Given the description of an element on the screen output the (x, y) to click on. 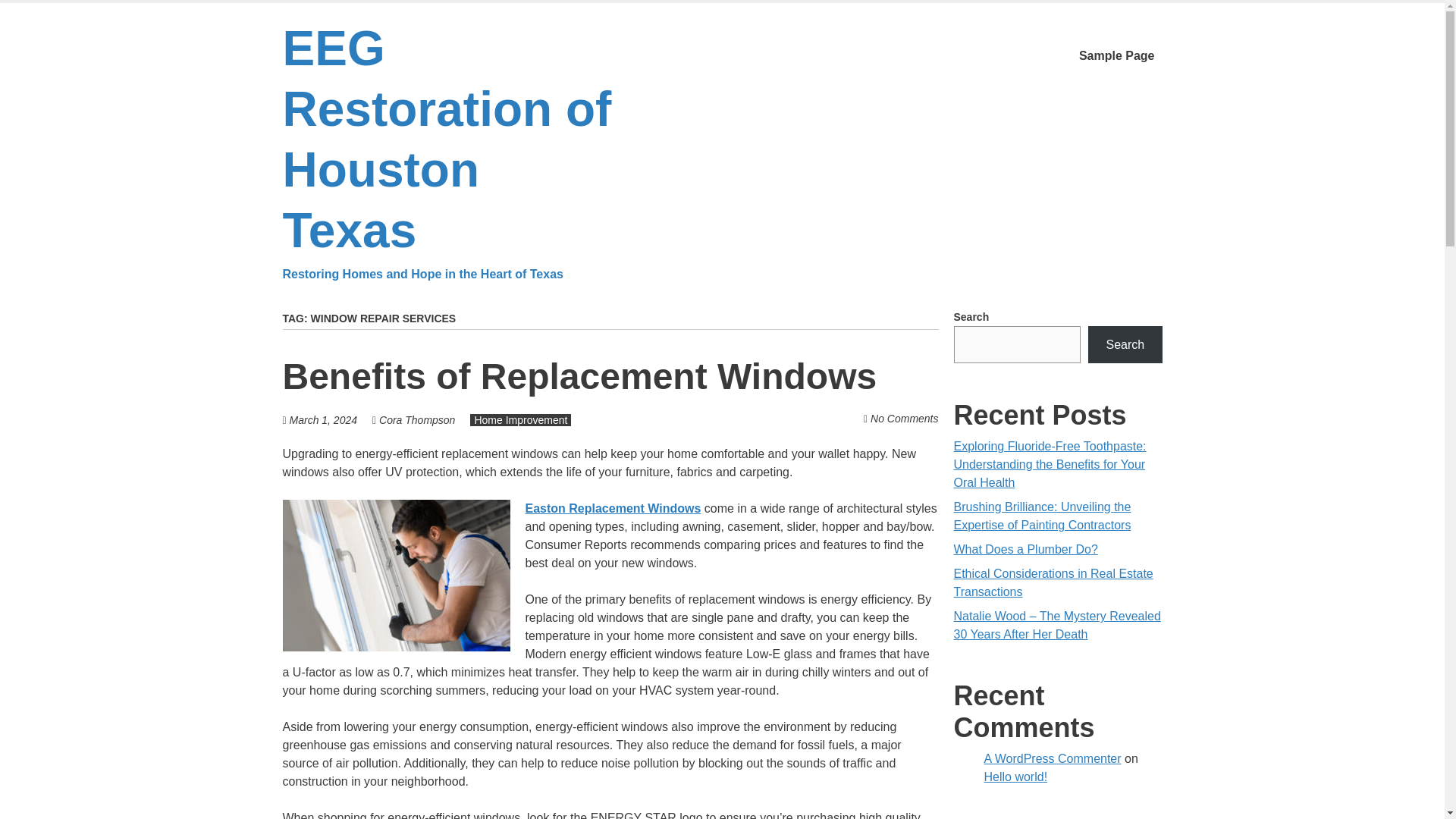
Sample Page (1116, 55)
Ethical Considerations in Real Estate Transactions (1053, 582)
What Does a Plumber Do? (1025, 549)
Easton Replacement Windows (612, 508)
View all posts by Cora Thompson (416, 419)
Benefits of Replacement Windows (579, 376)
March 1, 2024 (323, 419)
A WordPress Commenter (1052, 758)
No Comments (903, 418)
Home Improvement (520, 419)
Cora Thompson (416, 419)
Comment on Benefits of Replacement Windows (903, 418)
Hello world! (1016, 776)
Search (1124, 344)
